Given the description of an element on the screen output the (x, y) to click on. 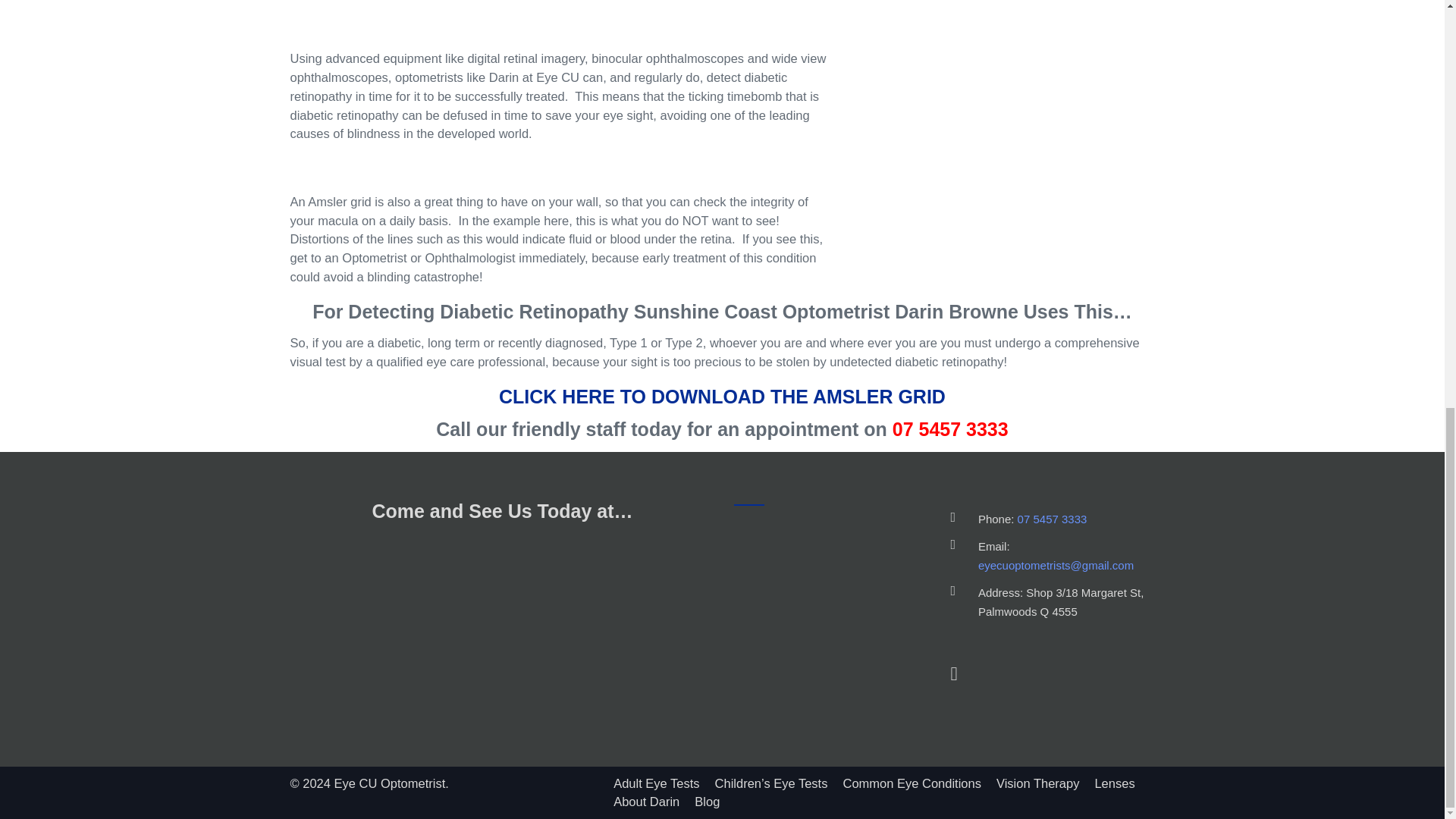
Lenses (1114, 783)
Common Eye Conditions (912, 783)
About Darin (645, 801)
Adult Eye Tests (655, 783)
Vision Therapy (1036, 783)
07 5457 3333 (1052, 518)
Blog (706, 801)
CLICK HERE TO DOWNLOAD THE AMSLER GRID (721, 396)
